Given the description of an element on the screen output the (x, y) to click on. 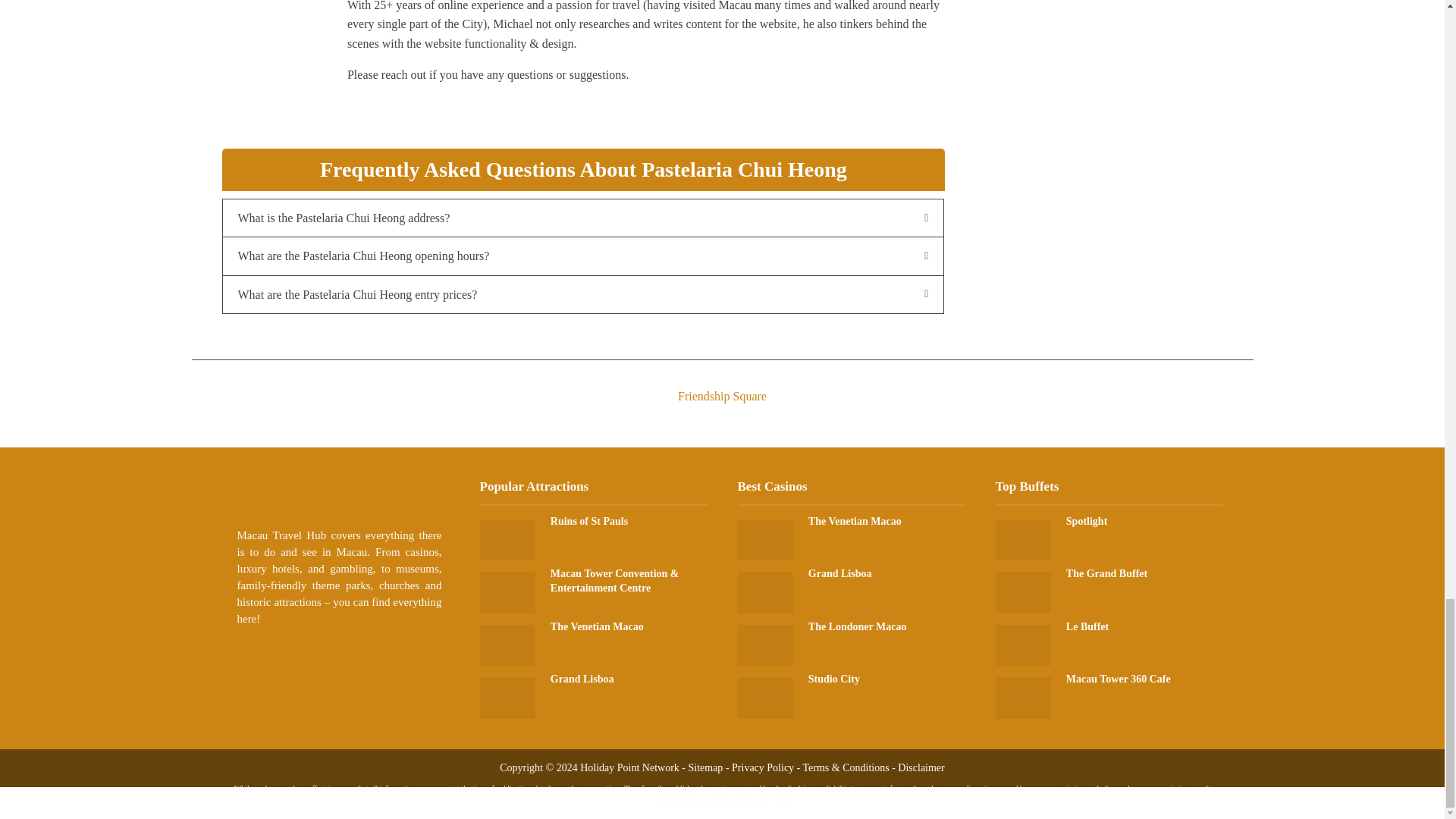
Friendship Square (721, 382)
